Given the description of an element on the screen output the (x, y) to click on. 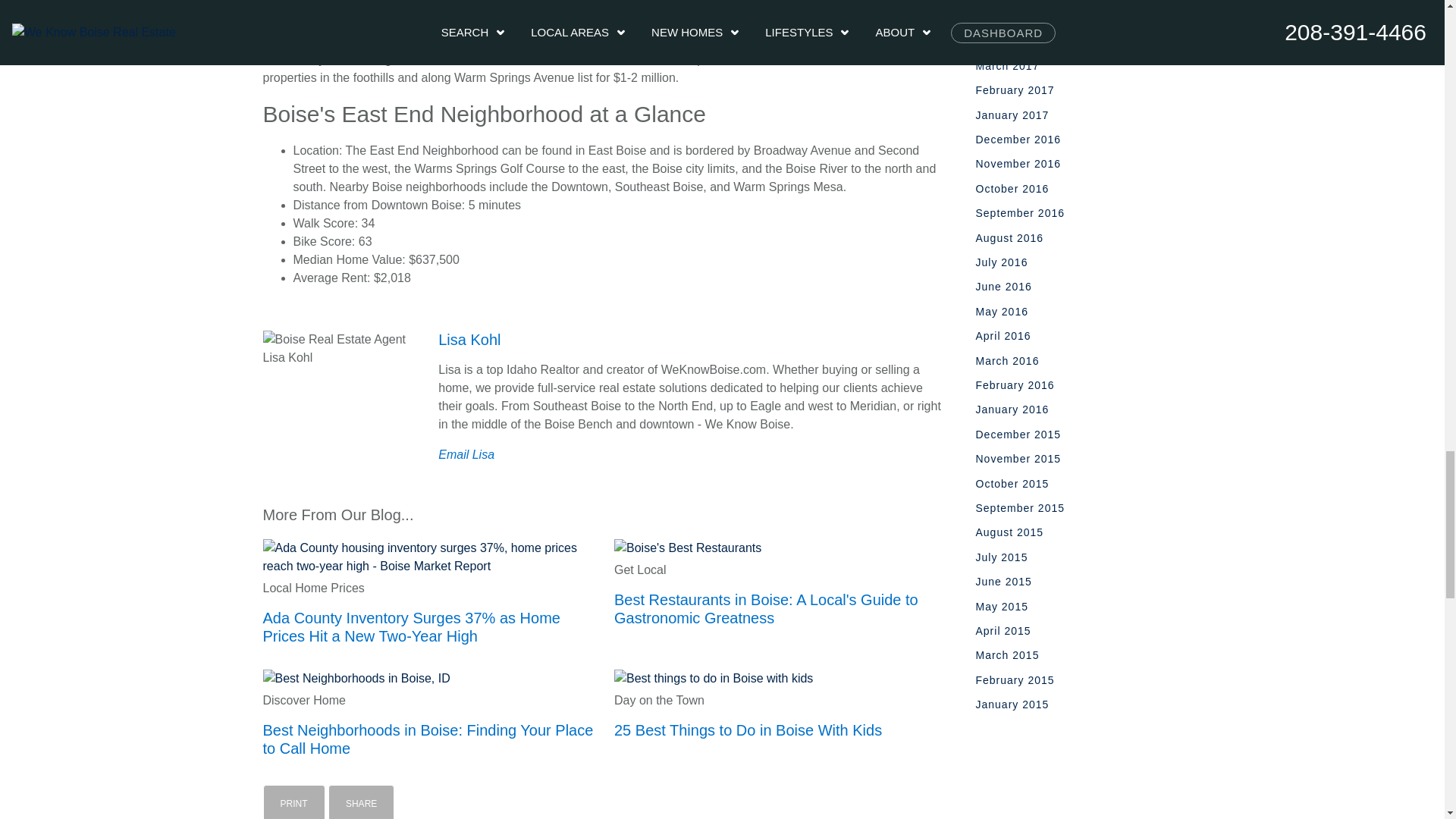
Opens new window with print ready page (293, 801)
Opens new window with social share options (361, 801)
